Given the description of an element on the screen output the (x, y) to click on. 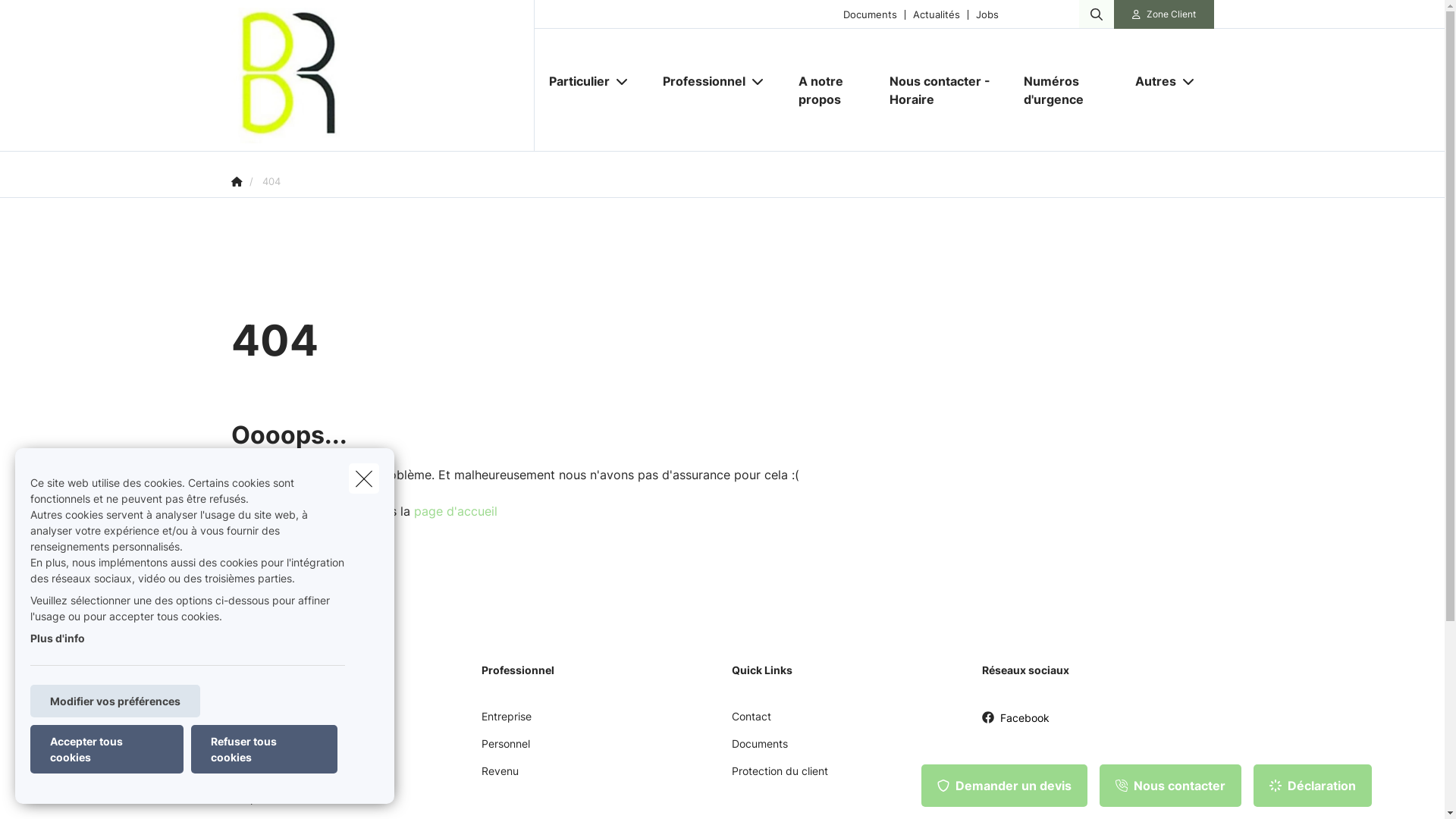
Documents Element type: text (759, 748)
Facebook Element type: text (1014, 722)
Nous contacter - Horaire Element type: text (941, 89)
Jobs Element type: text (986, 13)
Particulier Element type: text (573, 80)
Revenu Element type: text (498, 776)
Famille et protection juridique Element type: text (303, 776)
Habitation Element type: text (255, 748)
Plus d'info Element type: text (57, 637)
Accepter tous cookies Element type: text (106, 748)
Nous contacter Element type: text (1170, 785)
Contact Element type: text (750, 721)
Autres Element type: text (1149, 80)
Entreprise Element type: text (505, 721)
Personnel Element type: text (504, 748)
Rechercher Element type: text (54, 18)
Professionnel Element type: text (698, 80)
Zone Client Element type: text (1163, 14)
Protection du client Element type: text (779, 776)
Hospitalisation Element type: text (266, 803)
A notre propos Element type: text (828, 89)
Refuser tous cookies Element type: text (264, 748)
Demander un devis Element type: text (1004, 785)
Documents Element type: text (869, 13)
page d'accueil Element type: text (455, 510)
